Given the description of an element on the screen output the (x, y) to click on. 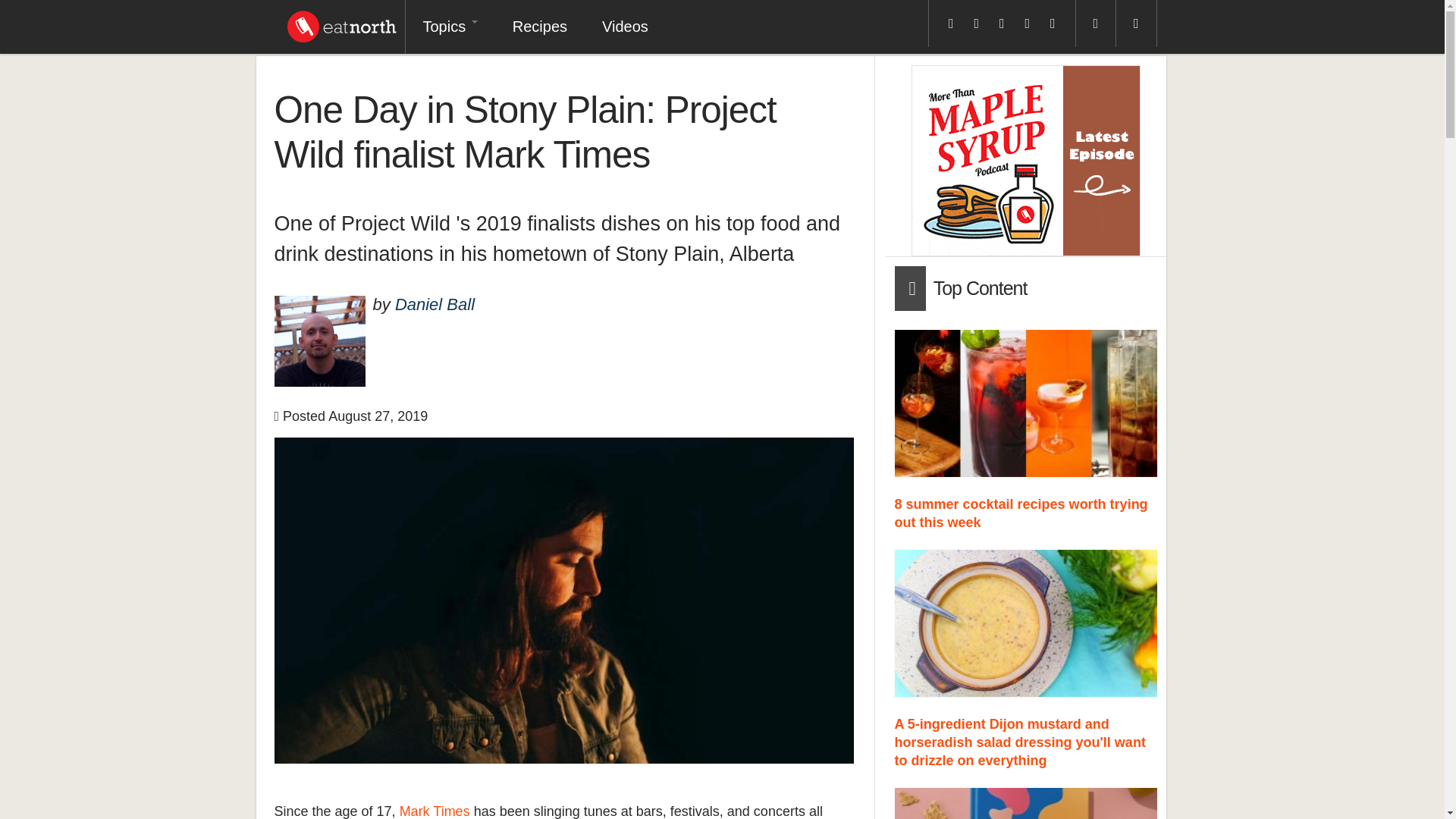
Videos (625, 27)
Topics (448, 27)
Home (341, 22)
Mark Times (434, 811)
Daniel Ball (434, 303)
Recipes (539, 27)
